Given the description of an element on the screen output the (x, y) to click on. 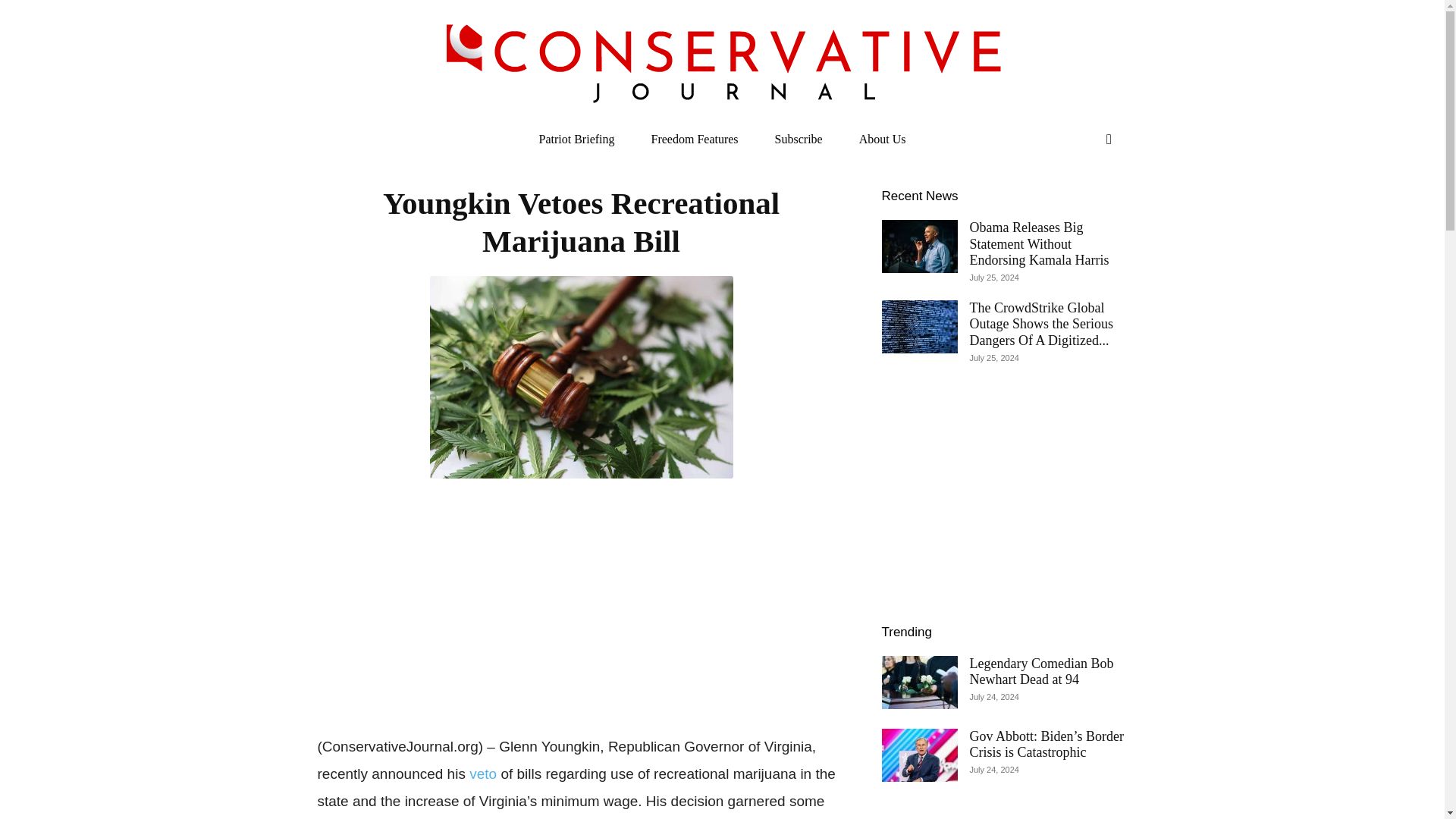
Obama Releases Big Statement Without Endorsing Kamala Harris (1038, 243)
Subscribe (799, 139)
Patriot Briefing (577, 139)
Freedom Features (693, 139)
About Us (882, 139)
Advertisement (580, 603)
veto (482, 773)
Search (1077, 200)
